Given the description of an element on the screen output the (x, y) to click on. 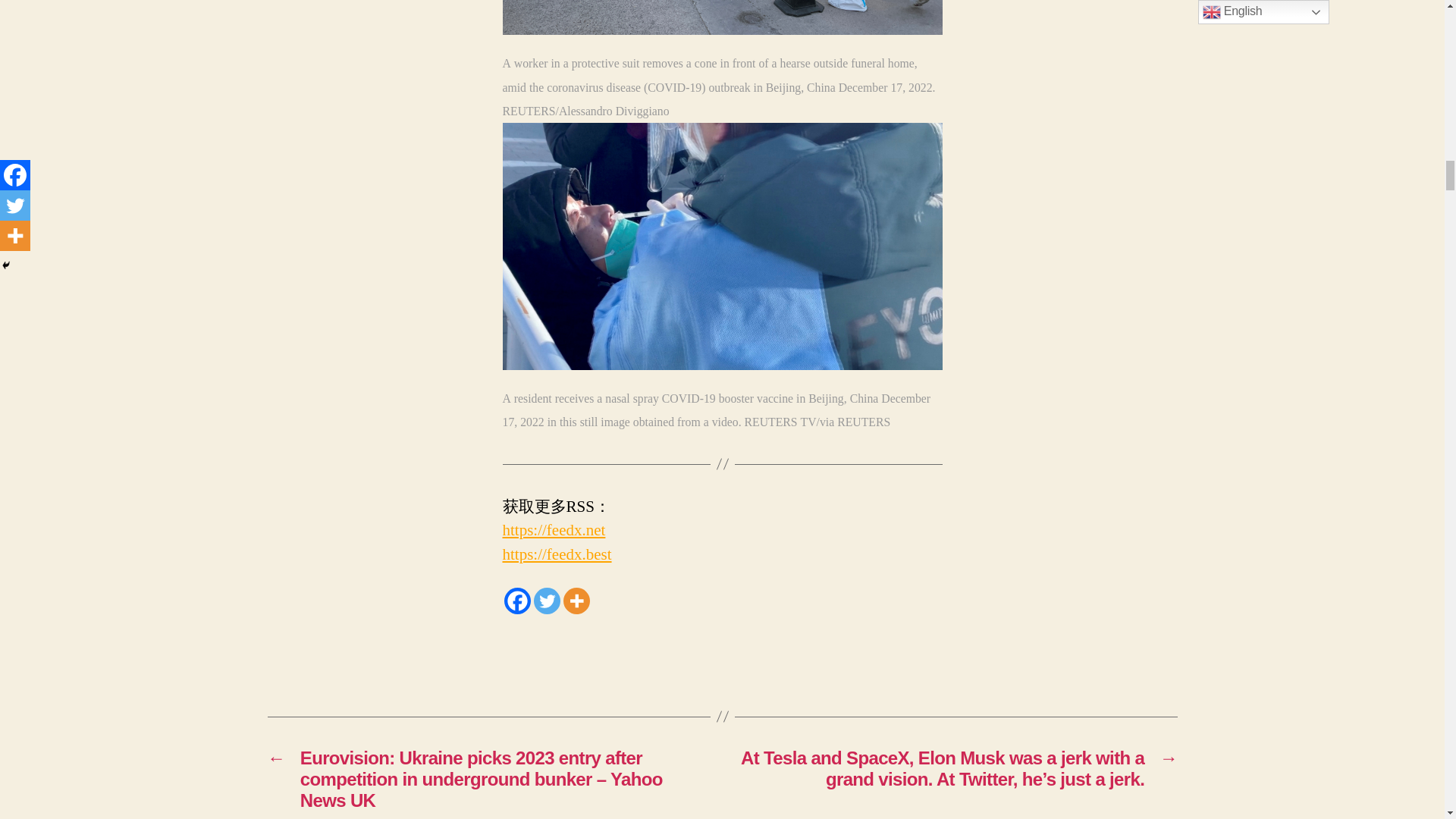
Facebook (516, 601)
More (575, 601)
Twitter (547, 601)
